Given the description of an element on the screen output the (x, y) to click on. 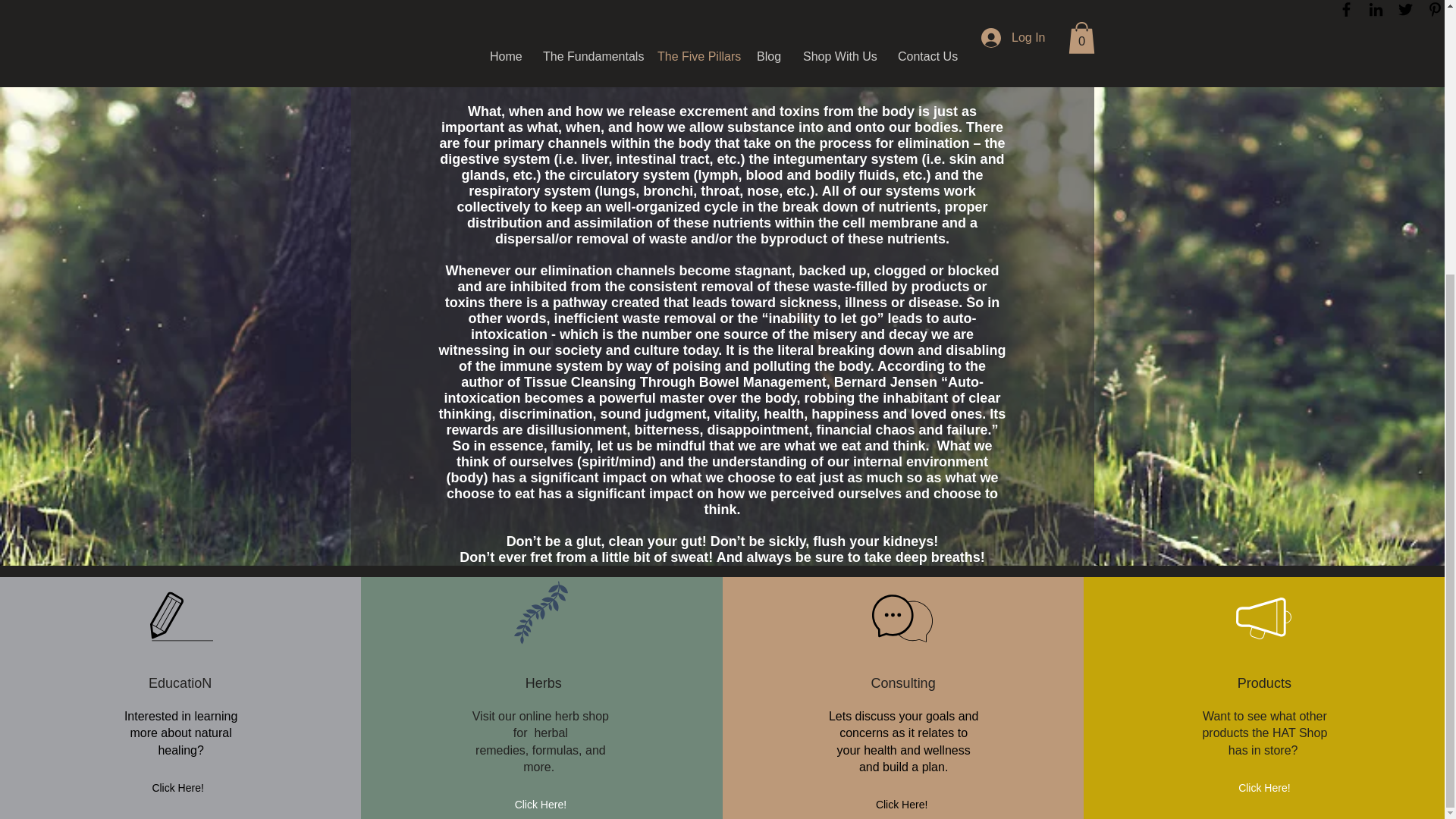
Click Here! (900, 804)
Click Here! (177, 787)
Click Here! (539, 804)
Click Here! (1263, 787)
